Given the description of an element on the screen output the (x, y) to click on. 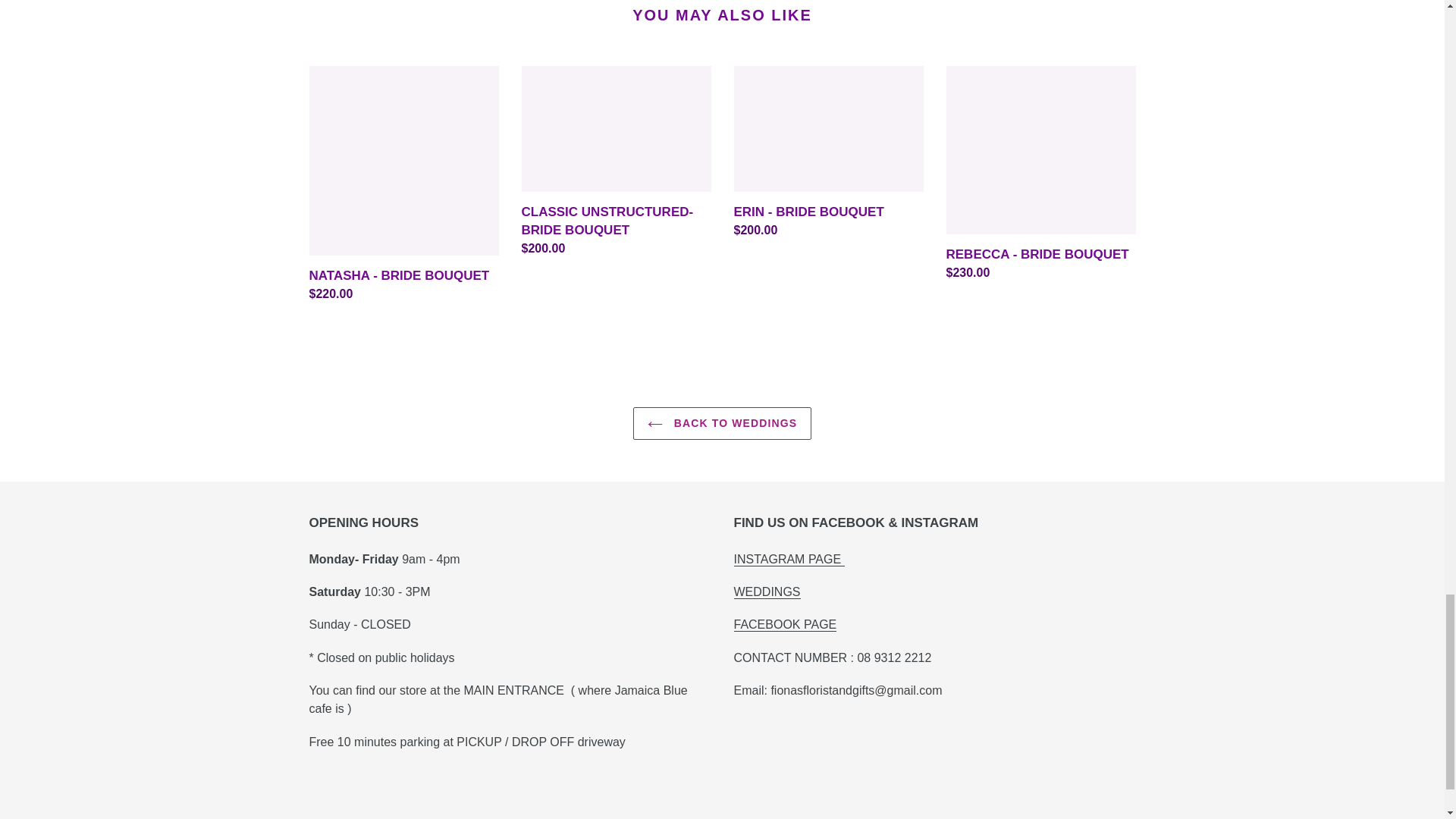
BACK TO WEDDINGS (721, 423)
ERIN - BRIDE BOUQUET (828, 153)
CLASSIC UNSTRUCTURED- BRIDE BOUQUET (616, 162)
